Given the description of an element on the screen output the (x, y) to click on. 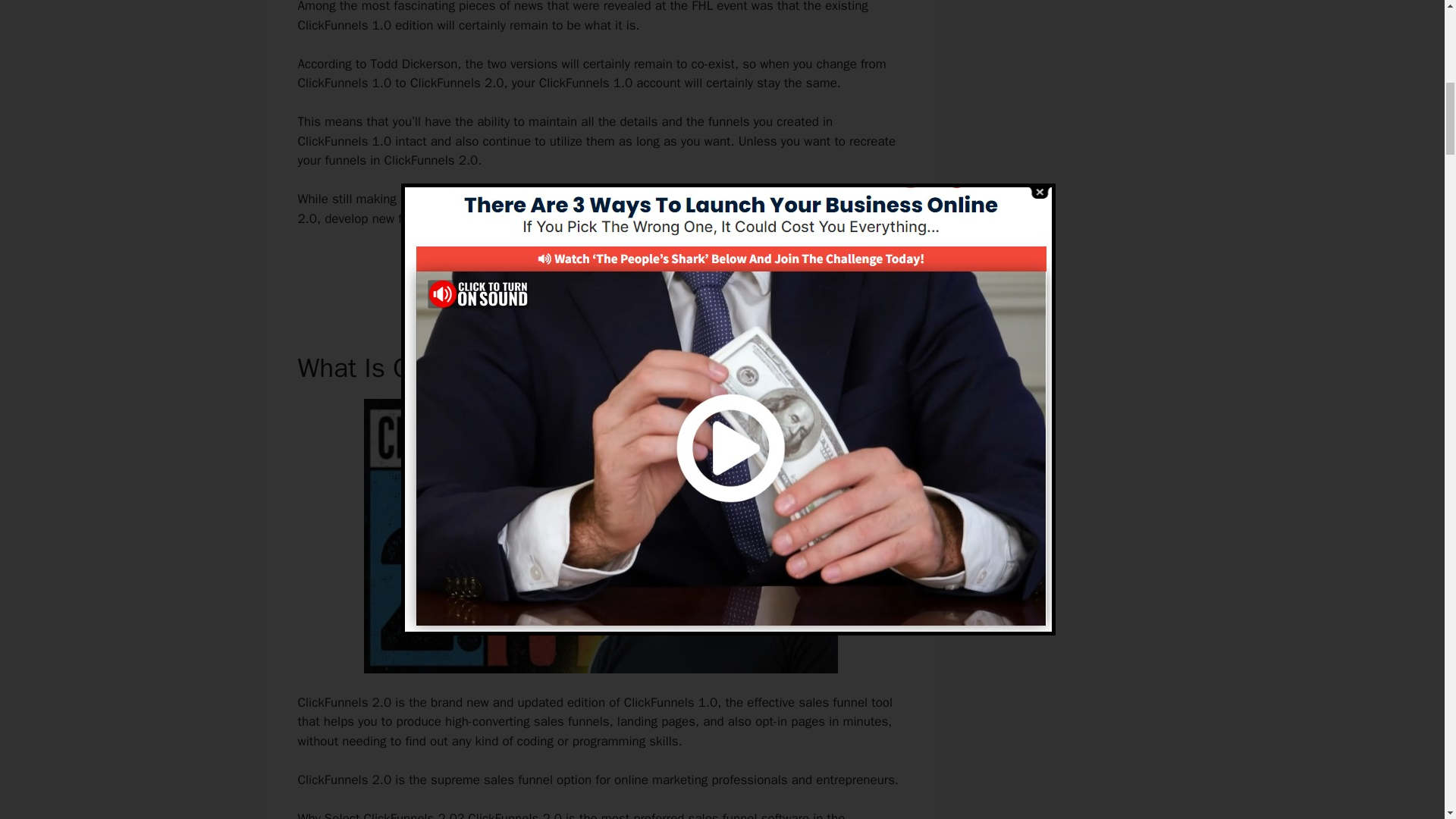
Visit Here To Find Out More On CF.2.0 (601, 270)
